Given the description of an element on the screen output the (x, y) to click on. 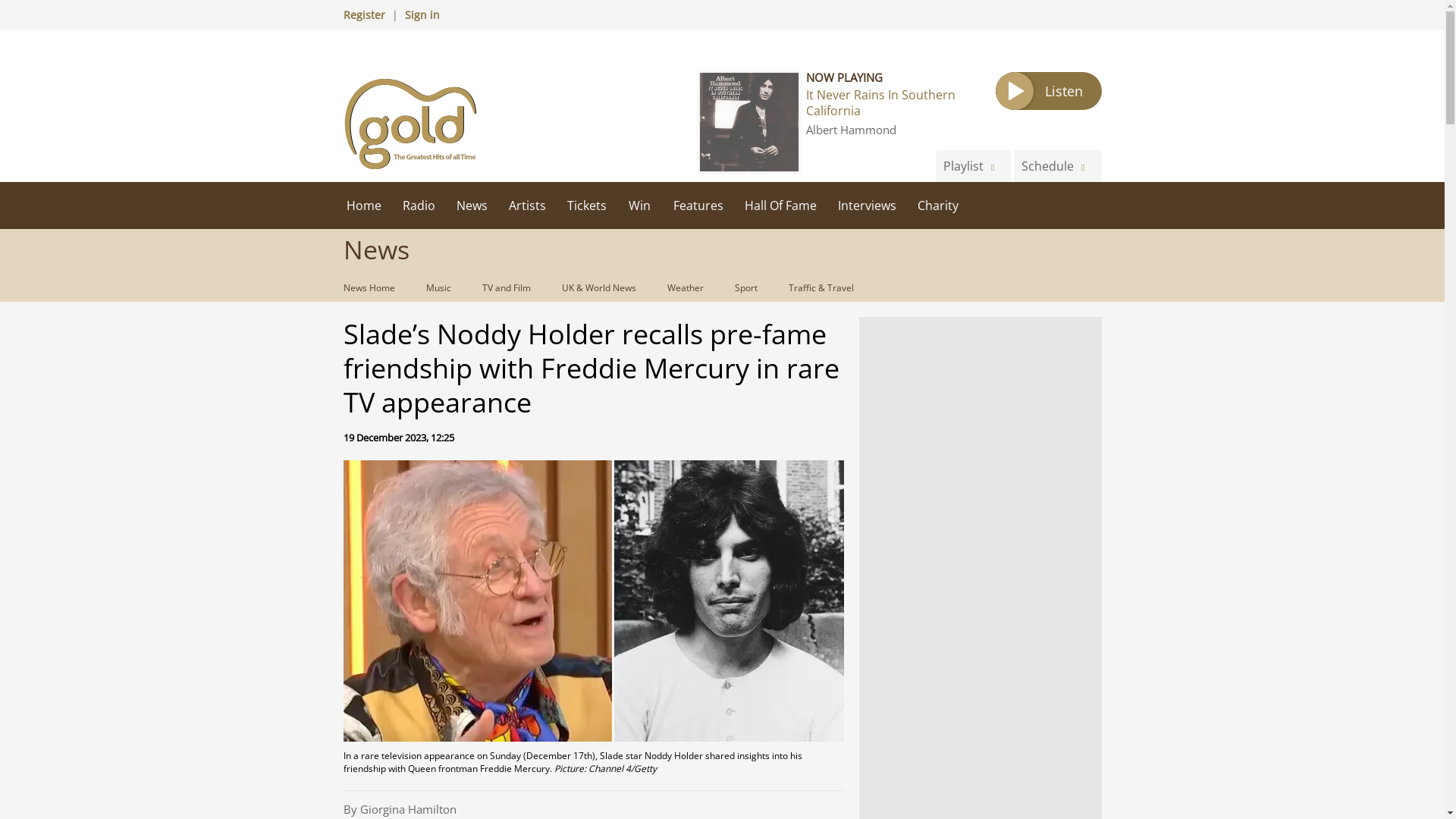
Gold (410, 122)
Tickets (586, 205)
Playlist (973, 165)
Listen (1047, 90)
Sign in (421, 14)
News (471, 205)
Win (639, 205)
Music (437, 287)
TV and Film (504, 287)
